Given the description of an element on the screen output the (x, y) to click on. 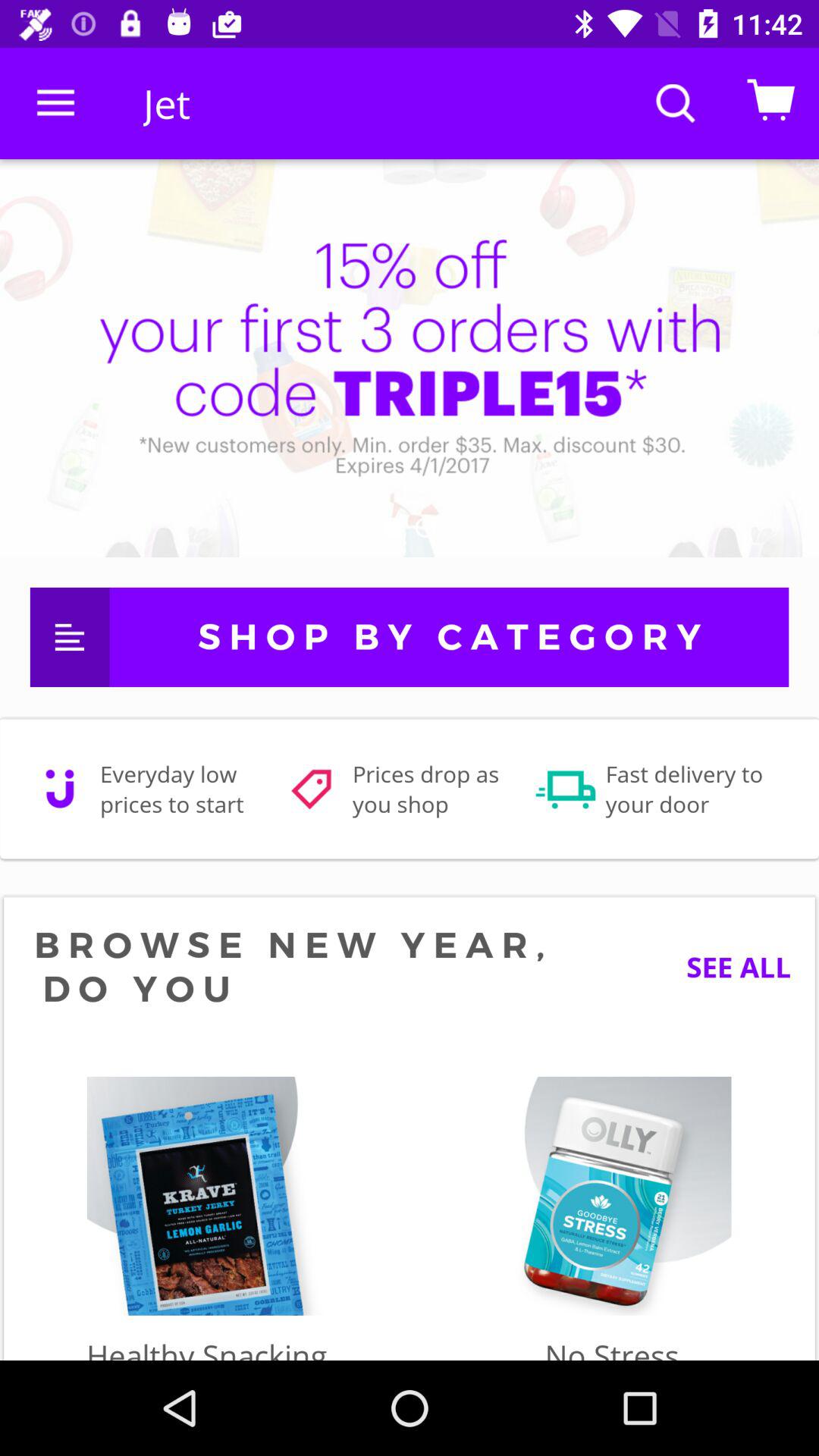
press the icon to the left of jet item (55, 103)
